Given the description of an element on the screen output the (x, y) to click on. 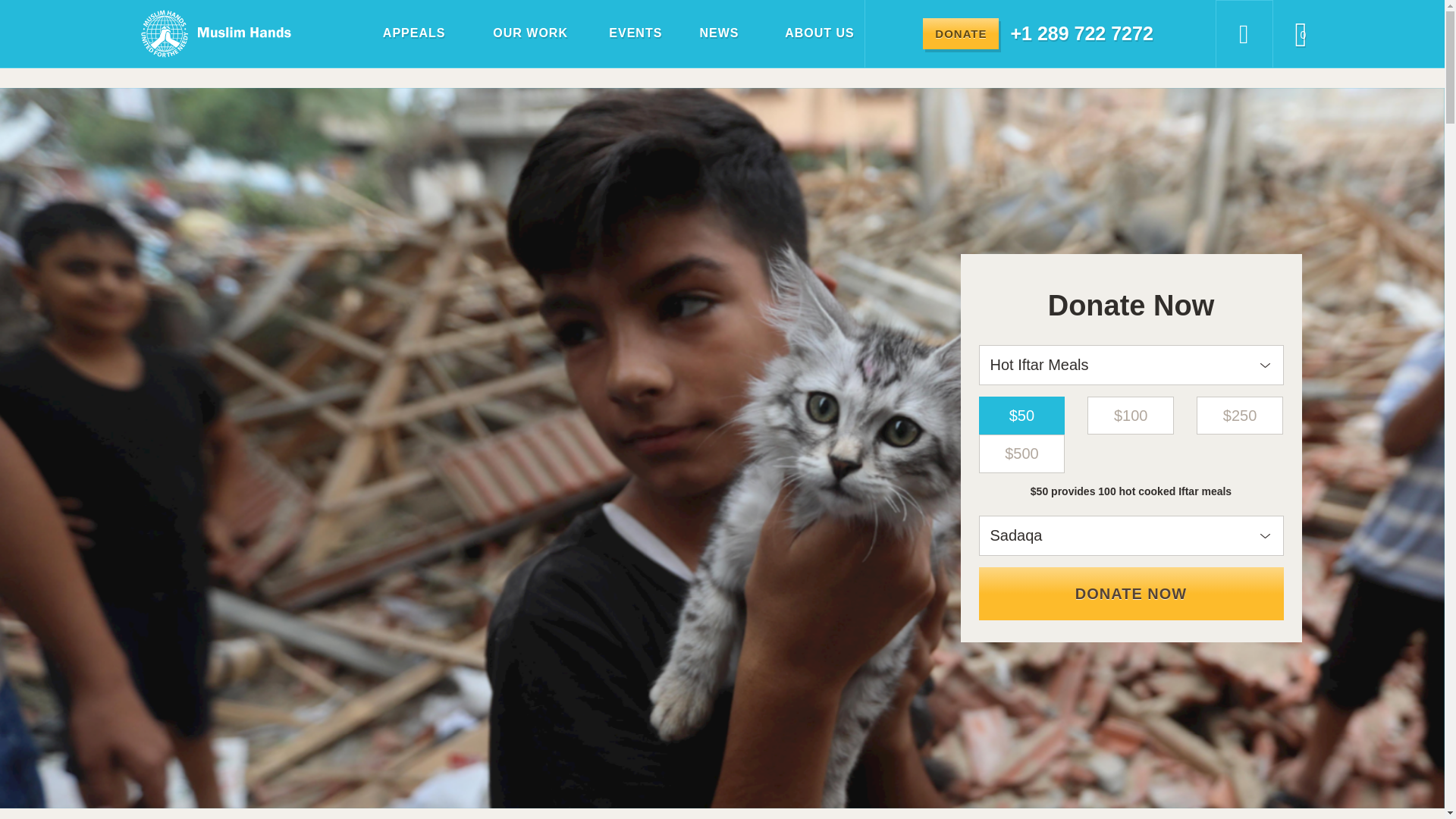
DONATE NOW (1130, 593)
News (709, 33)
EVENTS (624, 33)
APPEALS (402, 33)
DONATE (960, 33)
NEWS (709, 33)
Our Work (516, 33)
Appeals (402, 33)
About Us (805, 33)
OUR WORK (516, 33)
ABOUT US (805, 33)
Events (624, 33)
